Given the description of an element on the screen output the (x, y) to click on. 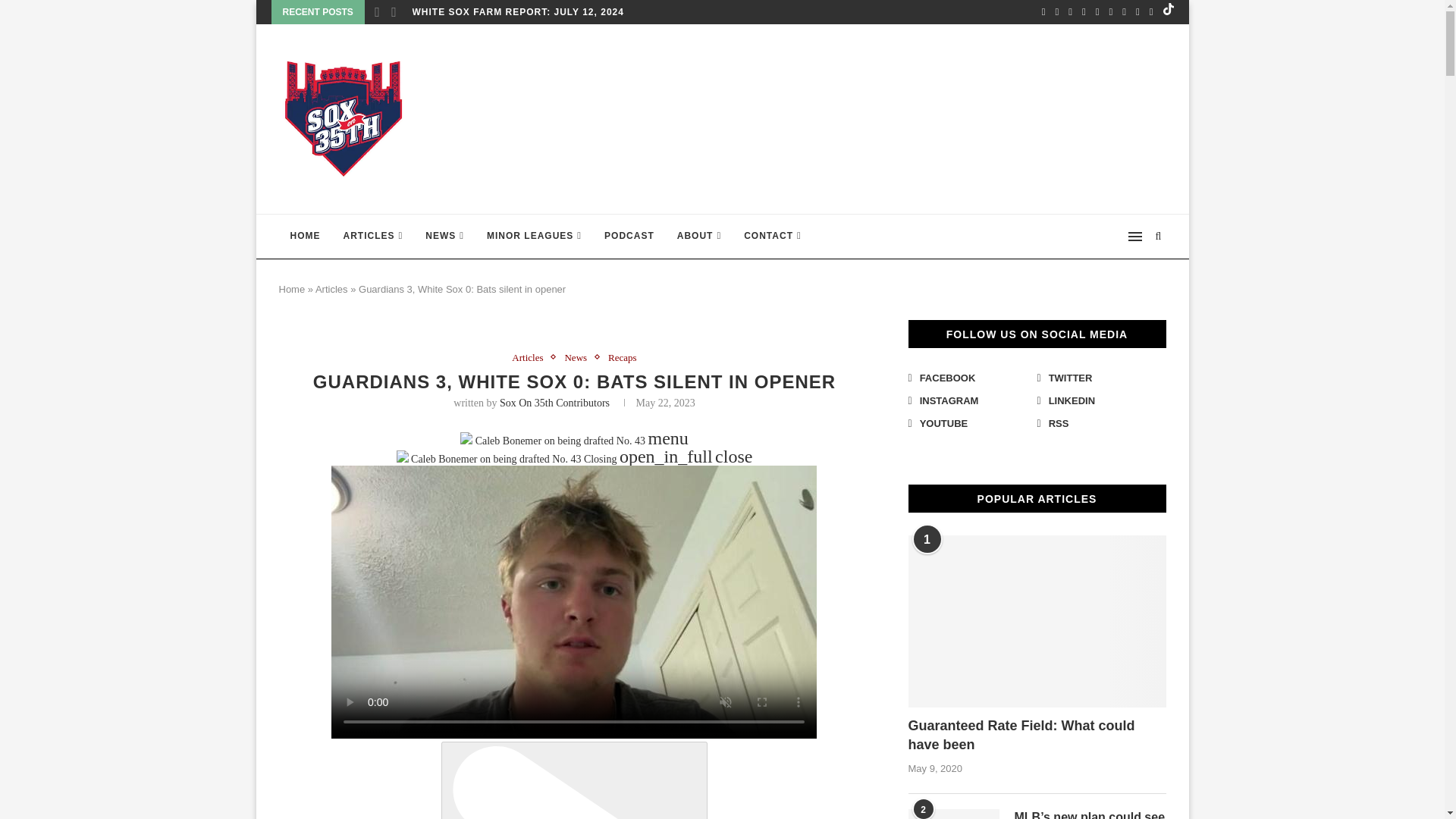
Advertisement (890, 117)
